Given the description of an element on the screen output the (x, y) to click on. 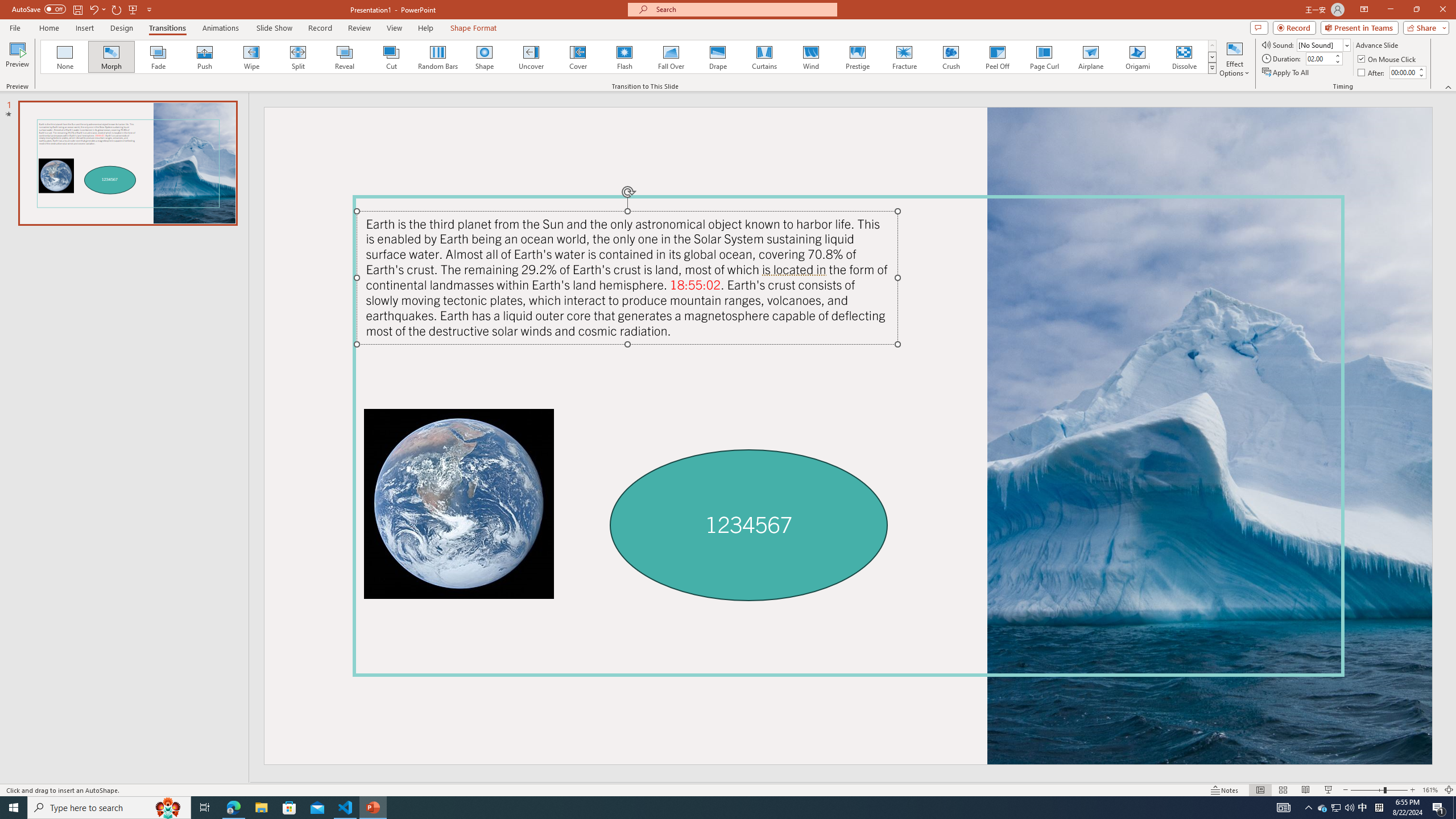
Drape (717, 56)
Origami (1136, 56)
Airplane (1090, 56)
